Given the description of an element on the screen output the (x, y) to click on. 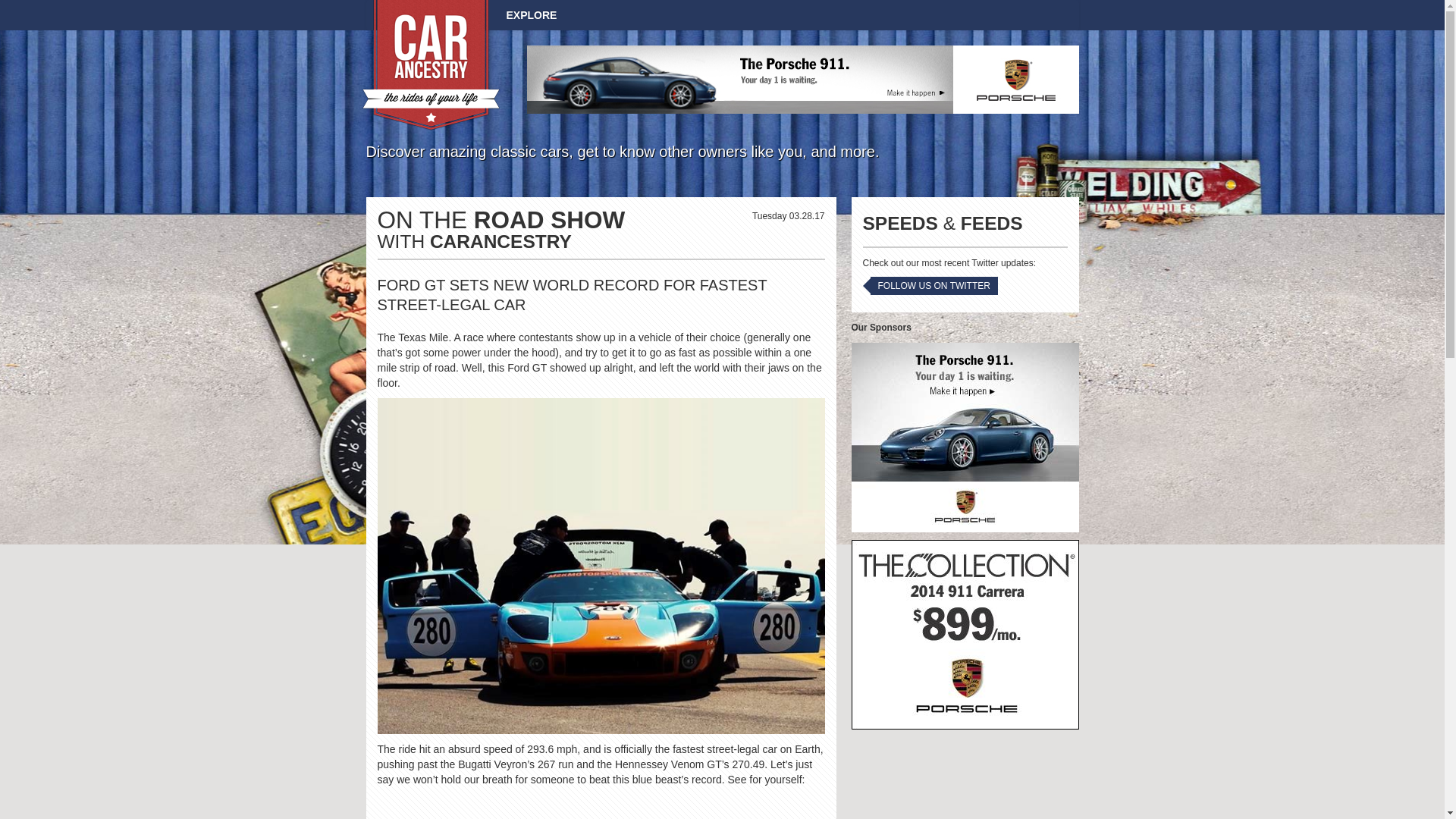
WORLD'S FASTEST 1-MILE FORD GT 293.6 MPH AT THE TEXAS MILE (601, 806)
FOLLOW US ON TWITTER (933, 285)
EXPLORE (531, 15)
